Given the description of an element on the screen output the (x, y) to click on. 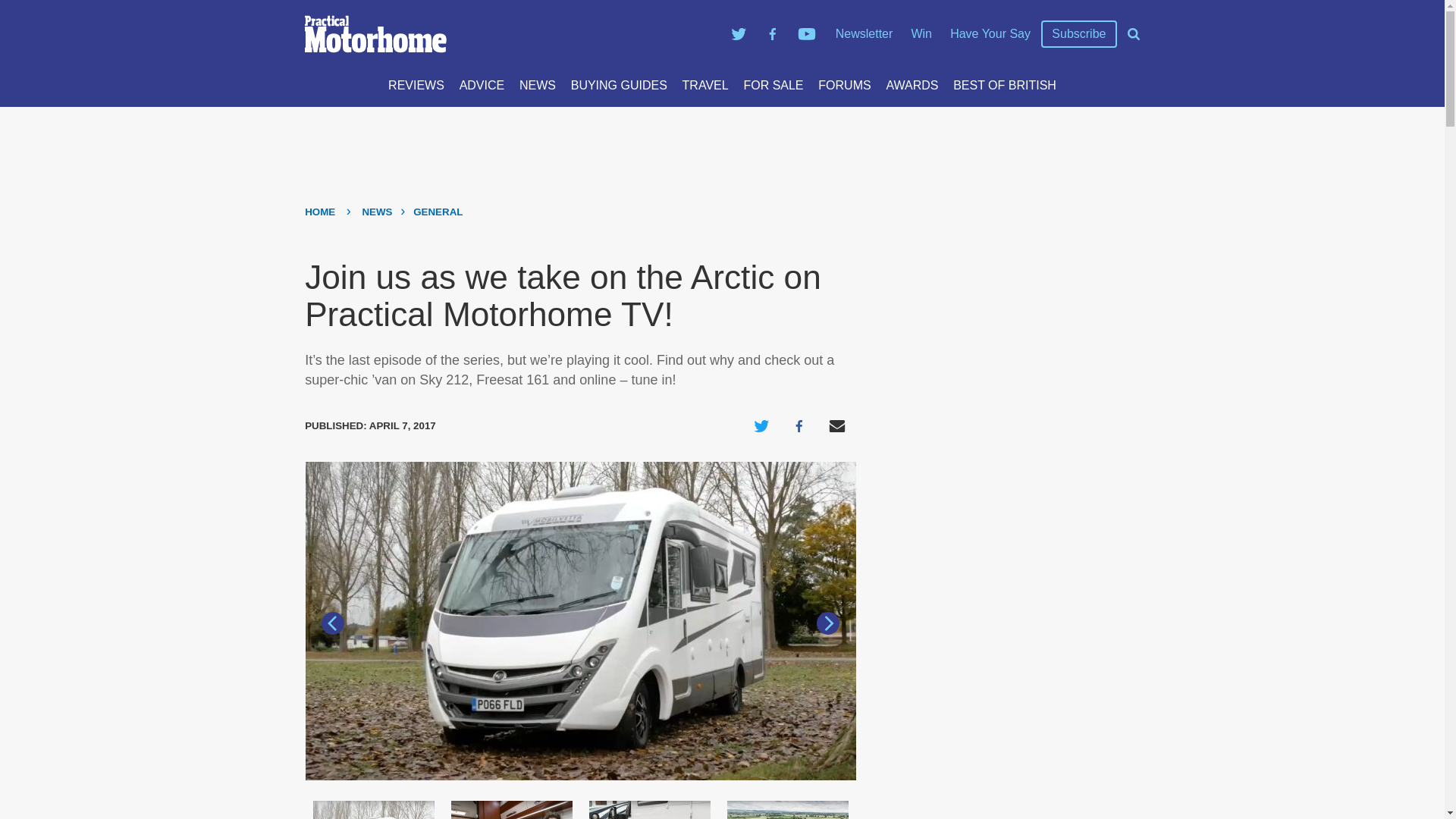
Share on Facebook (799, 426)
Newsletter (863, 33)
REVIEWS (416, 84)
NEWS (537, 84)
ADVICE (482, 84)
Win (921, 33)
BUYING GUIDES (618, 84)
Share via Email (837, 426)
Share on Twitter (761, 426)
logoCreated with Sketch. (509, 34)
logoCreated with Sketch. (375, 34)
Subscribe (1078, 34)
Have Your Say (990, 33)
